Given the description of an element on the screen output the (x, y) to click on. 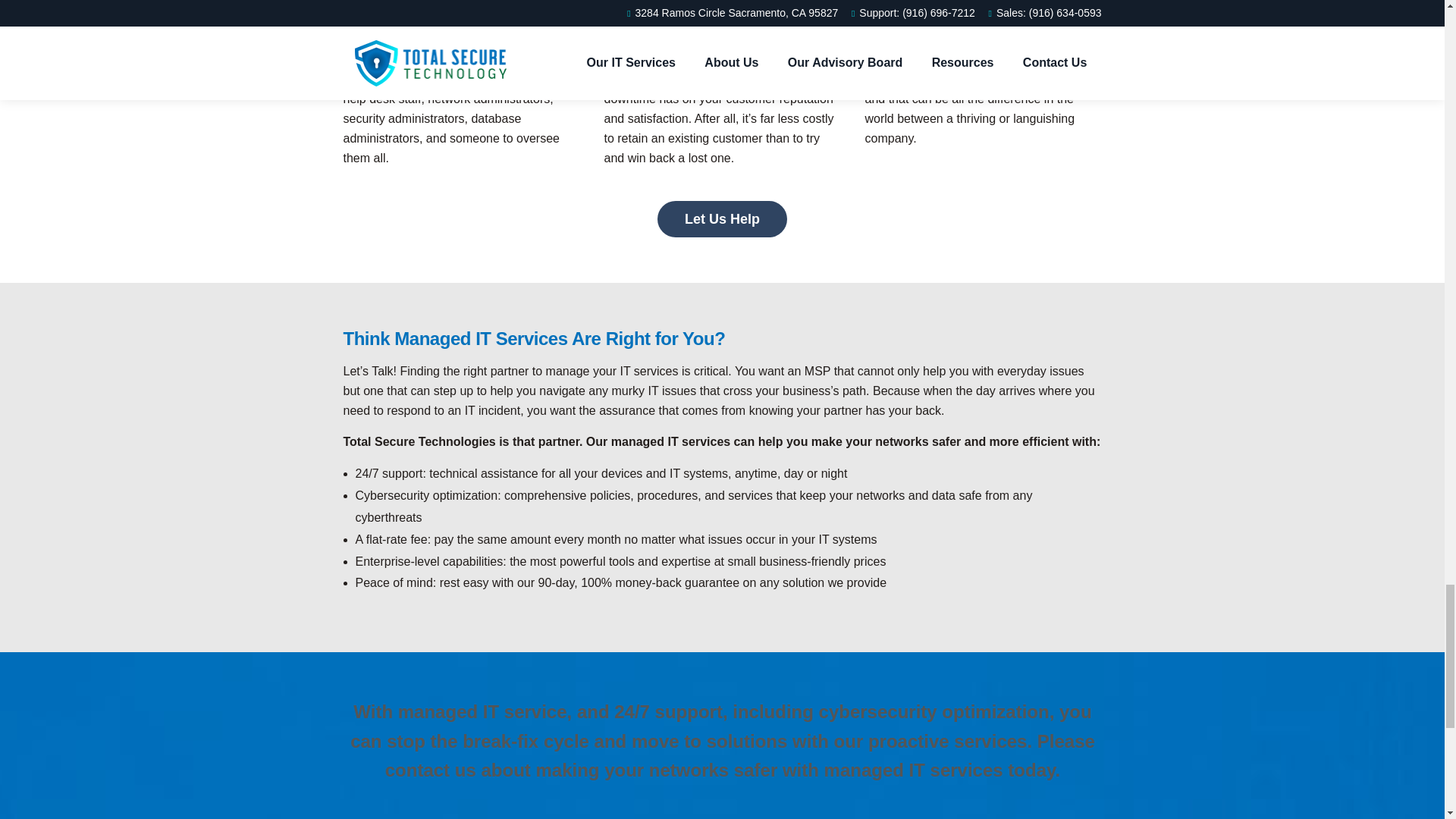
Let Us Help (722, 218)
